Given the description of an element on the screen output the (x, y) to click on. 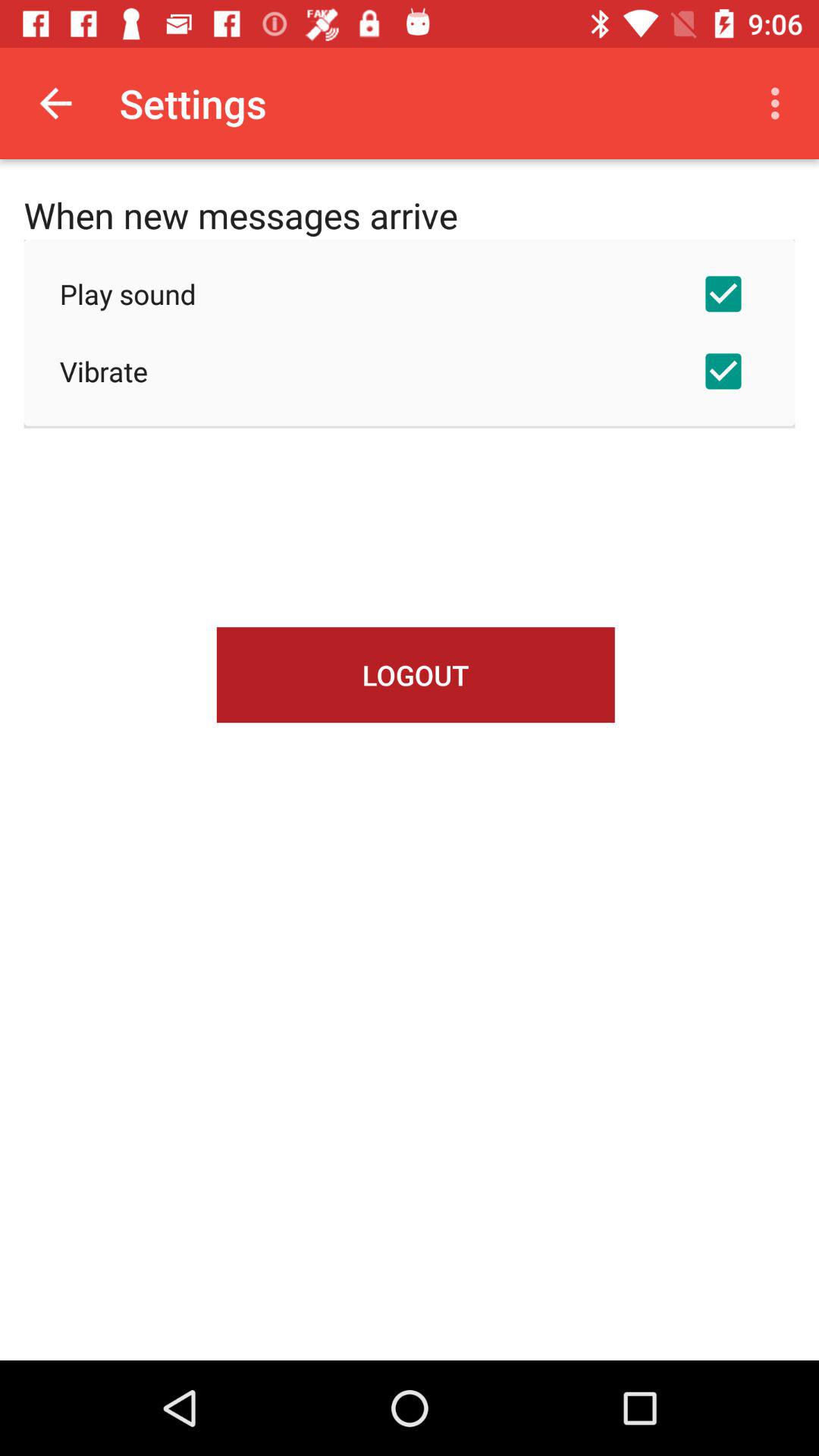
open item above vibrate icon (409, 293)
